Given the description of an element on the screen output the (x, y) to click on. 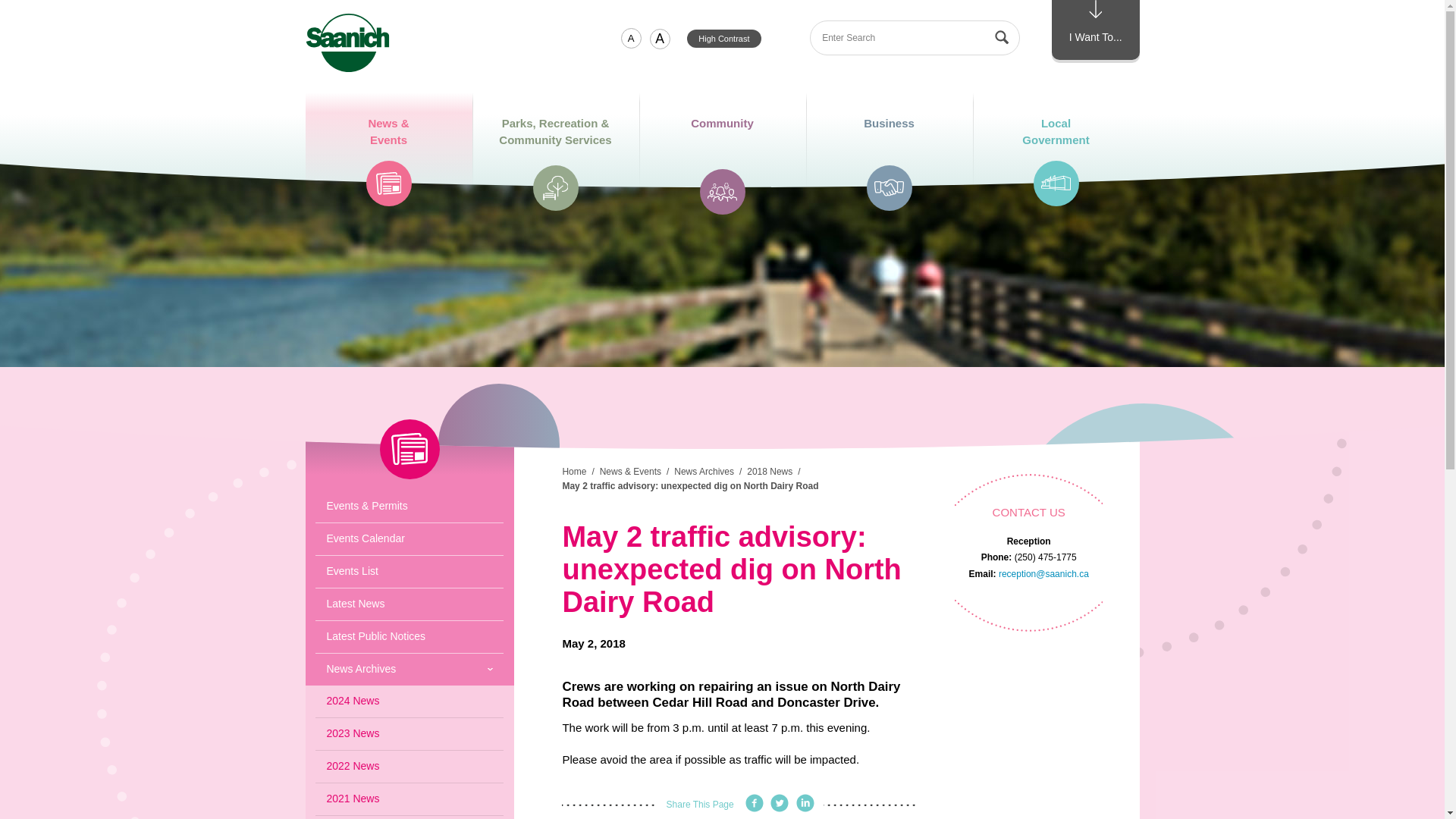
Search (1002, 37)
Community (1095, 29)
District of Saanich (724, 38)
Home (722, 143)
